Given the description of an element on the screen output the (x, y) to click on. 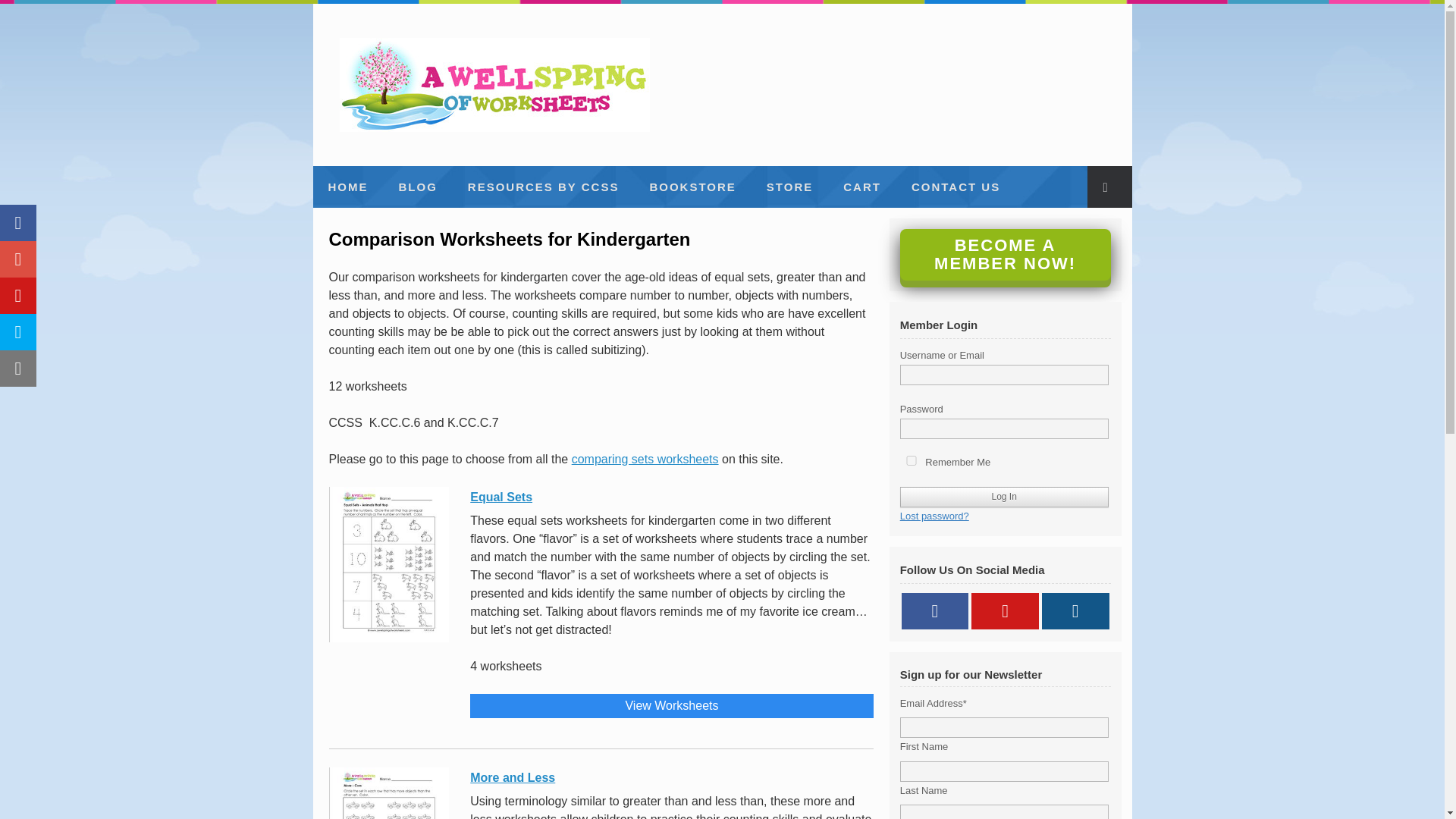
CONTACT US (955, 186)
CART (862, 186)
STORE (789, 186)
RESOURCES BY CCSS (543, 186)
Log In (1003, 496)
HOME (347, 186)
BOOKSTORE (692, 186)
Equal Sets (671, 495)
View Worksheets (671, 705)
comparing sets worksheets (645, 459)
More and Less (671, 775)
Log In (1003, 496)
forever (911, 460)
A Wellspring of Worksheets (494, 84)
Lost password? (934, 514)
